Given the description of an element on the screen output the (x, y) to click on. 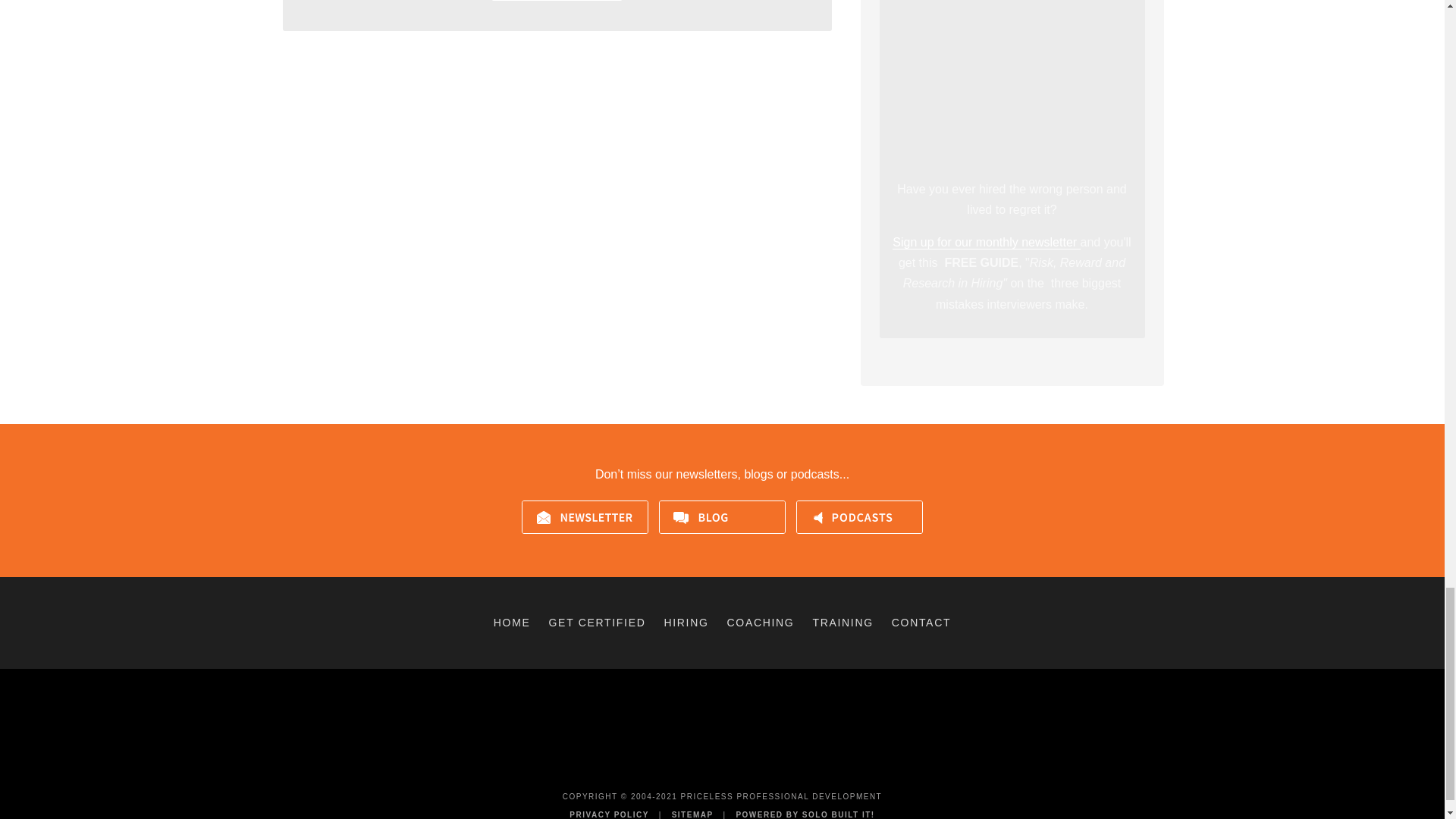
Priceless Professional on Facebook (689, 769)
Priceless Professional RSS Feed (755, 769)
Sign up for our monthly newsletter (986, 242)
Priceless Professional on Twitter (711, 769)
GET IN TOUCH... (556, 0)
Priceless Professional on LinkedIn (733, 769)
